Given the description of an element on the screen output the (x, y) to click on. 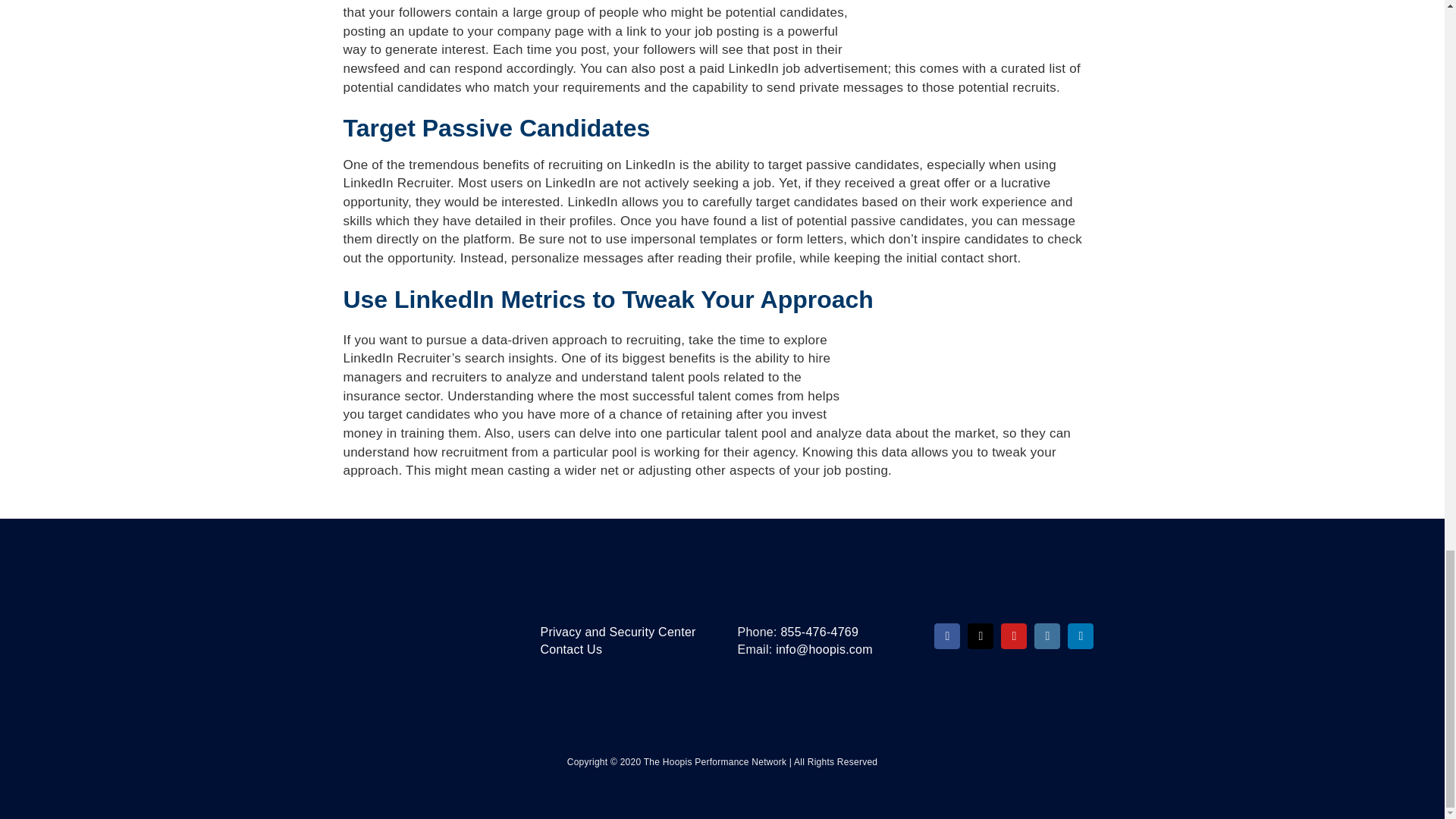
X (980, 636)
YouTube (1013, 636)
Instagram (1046, 636)
LinkedIn (1080, 636)
Facebook (946, 636)
